Given the description of an element on the screen output the (x, y) to click on. 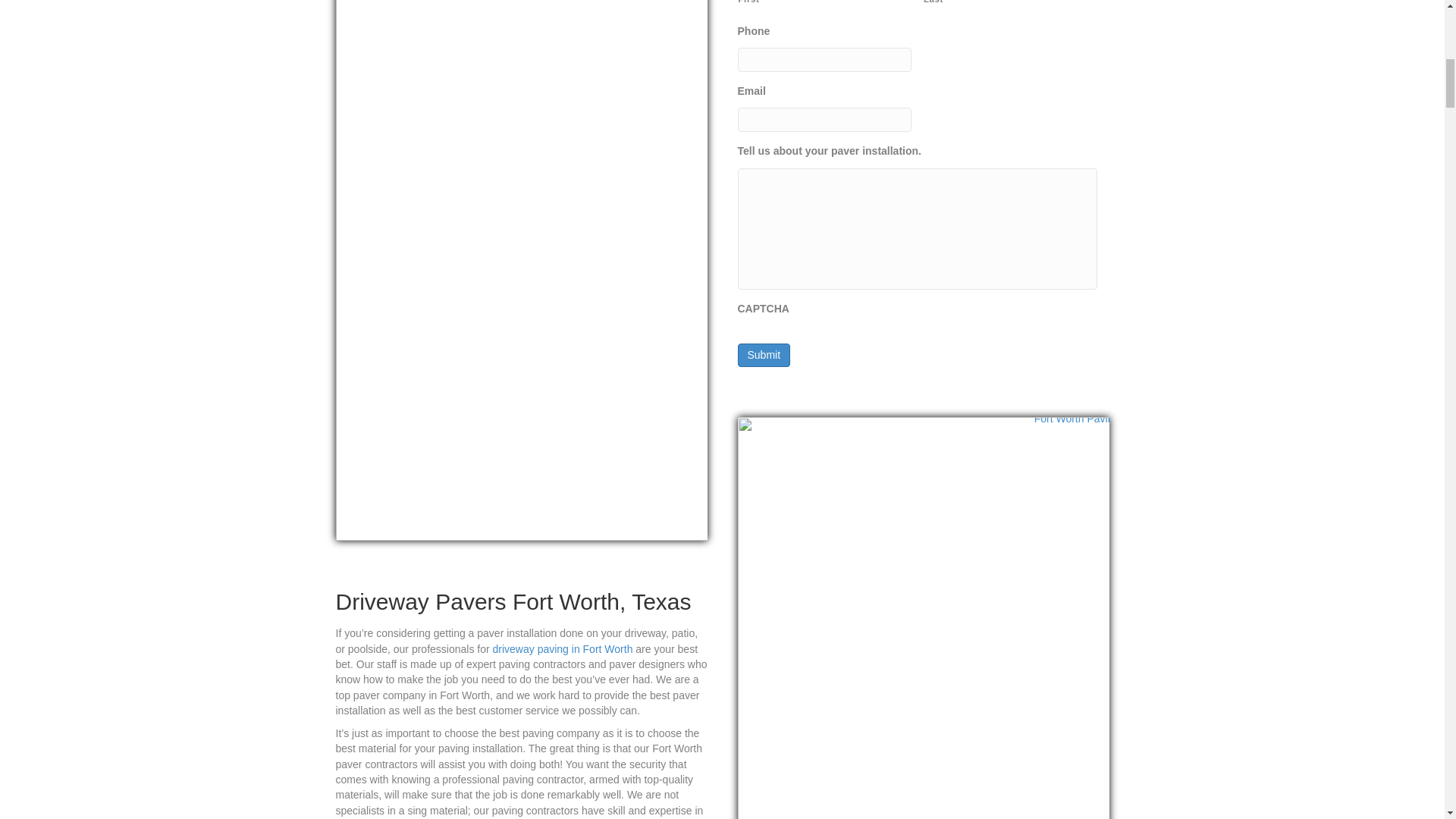
Submit (763, 354)
driveway paving in Fort Worth (563, 648)
Submit (763, 354)
